Given the description of an element on the screen output the (x, y) to click on. 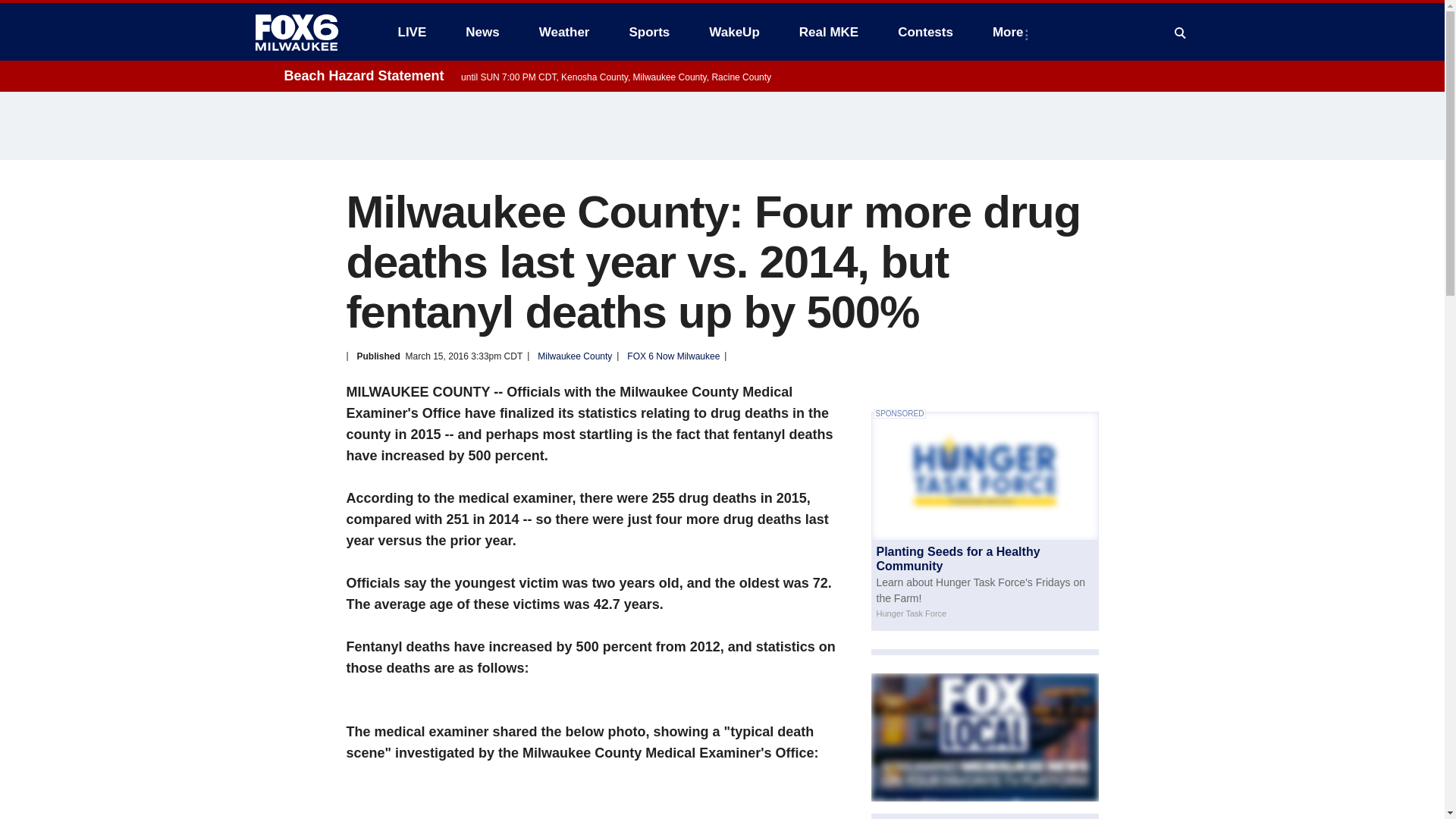
Weather (564, 32)
Contests (925, 32)
Sports (648, 32)
WakeUp (734, 32)
LIVE (411, 32)
More (1010, 32)
Real MKE (828, 32)
News (481, 32)
